Given the description of an element on the screen output the (x, y) to click on. 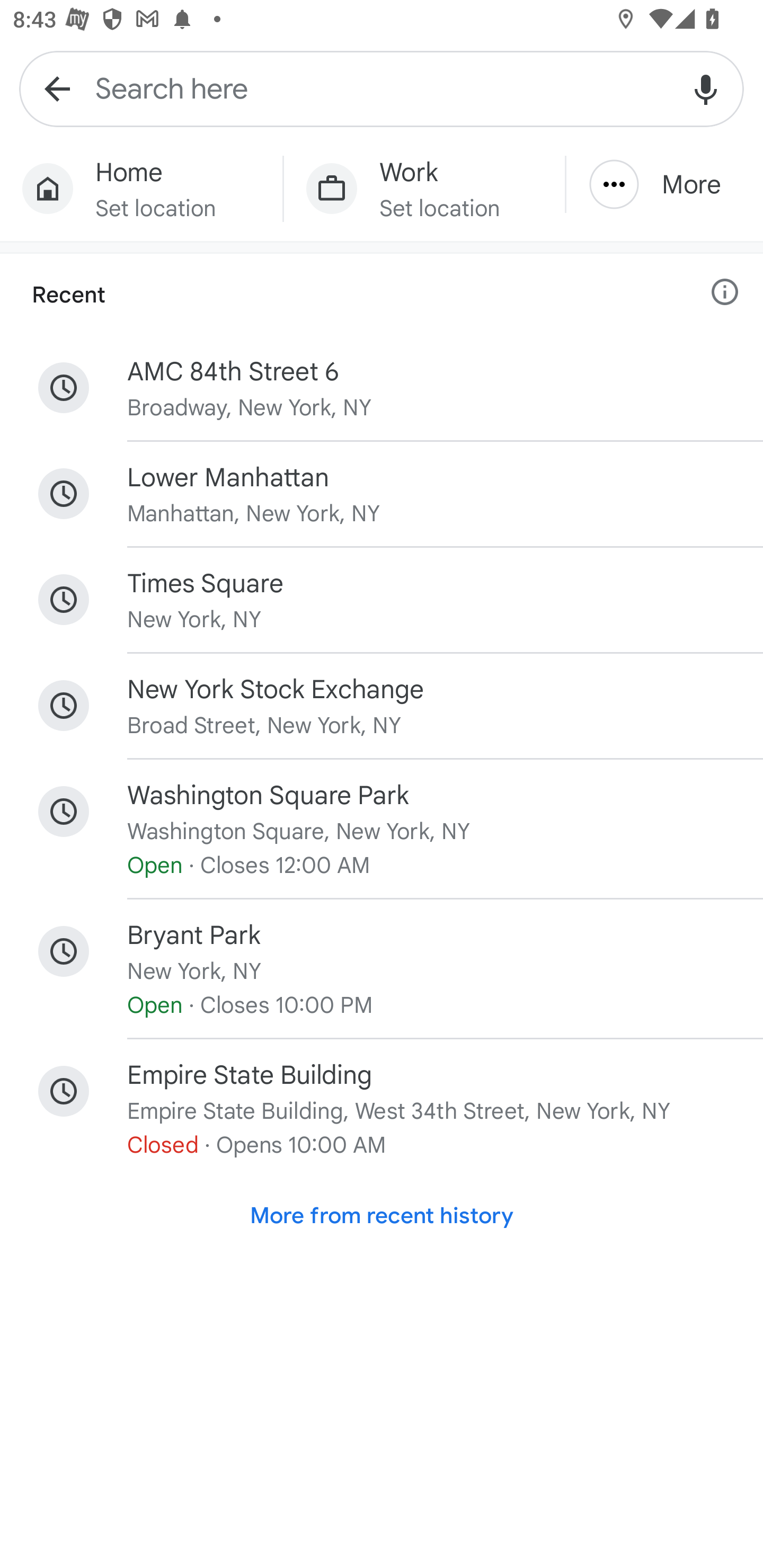
Navigate up (57, 88)
Search here (381, 88)
Voice search (705, 88)
Home Set location (141, 188)
Work Set location (423, 188)
More (664, 184)
AMC 84th Street 6 Broadway, New York, NY (381, 387)
Lower Manhattan Manhattan, New York, NY (381, 493)
Times Square New York, NY (381, 599)
New York Stock Exchange Broad Street, New York, NY (381, 705)
Bryant Park New York, NY Open · Closes 10:00 PM (381, 969)
More from recent history (381, 1215)
